Given the description of an element on the screen output the (x, y) to click on. 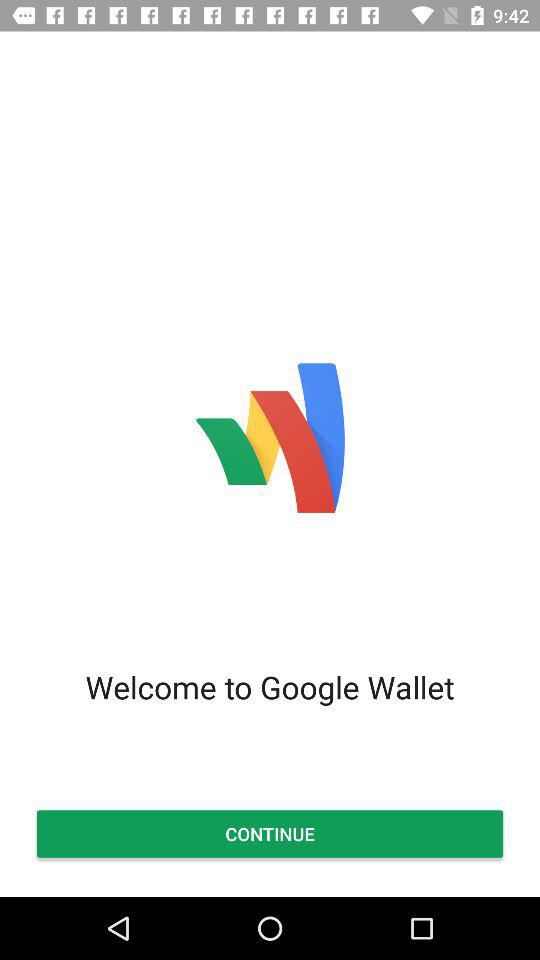
press the continue (269, 833)
